Given the description of an element on the screen output the (x, y) to click on. 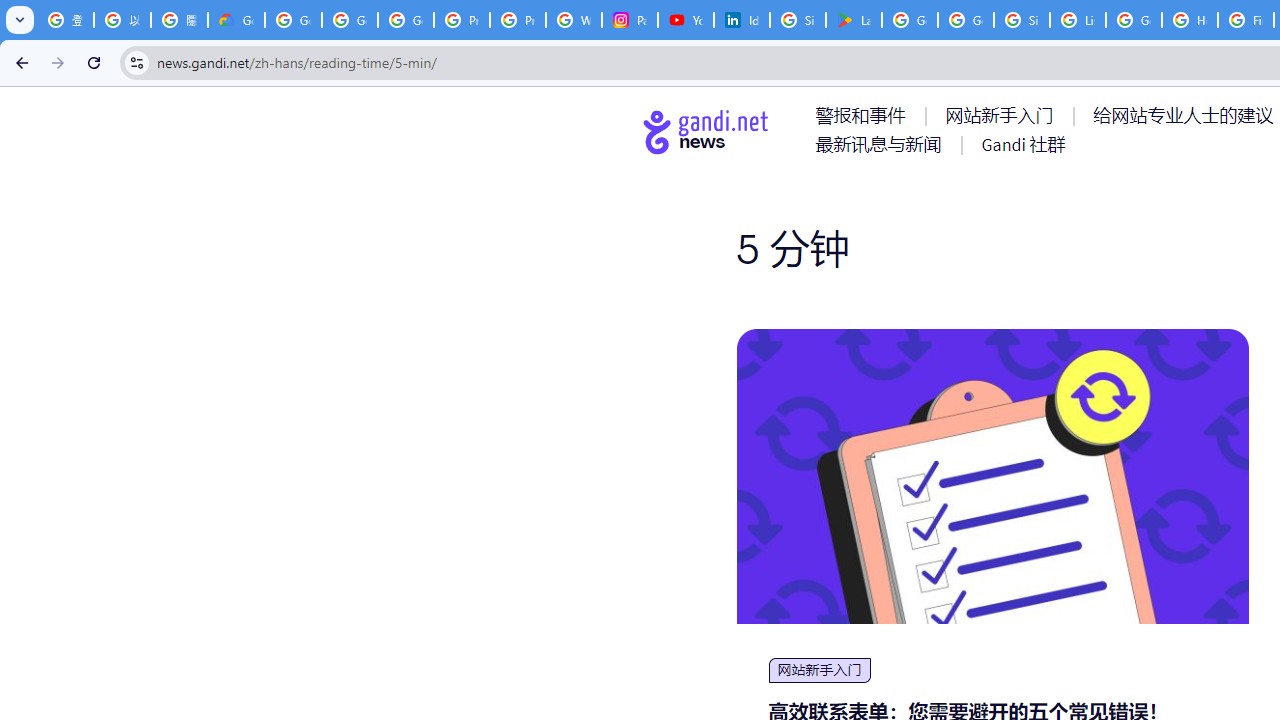
Privacy Help Center - Policies Help (518, 20)
AutomationID: menu-item-77761 (863, 115)
Sign in - Google Accounts (797, 20)
Sign in - Google Accounts (1021, 20)
AutomationID: menu-item-77762 (1003, 115)
